Given the description of an element on the screen output the (x, y) to click on. 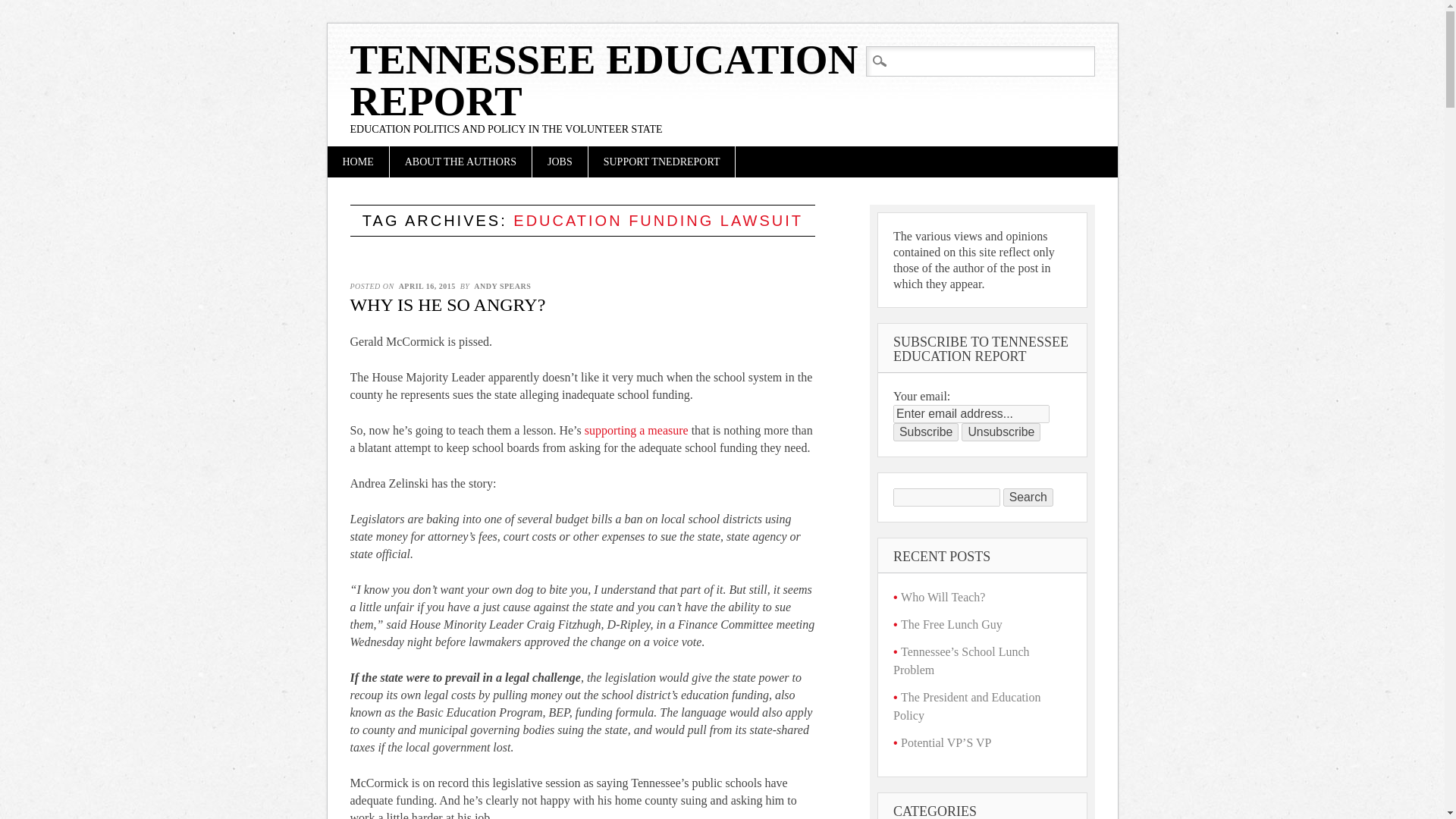
ANDY SPEARS (501, 285)
Permalink to Why is he so angry? (448, 304)
ABOUT THE AUTHORS (460, 161)
Tennessee Education Report (604, 80)
Unsubscribe (1000, 432)
TENNESSEE EDUCATION REPORT (604, 80)
HOME (357, 161)
The President and Education Policy (967, 706)
The Free Lunch Guy (952, 624)
2:47 pm (427, 285)
